Given the description of an element on the screen output the (x, y) to click on. 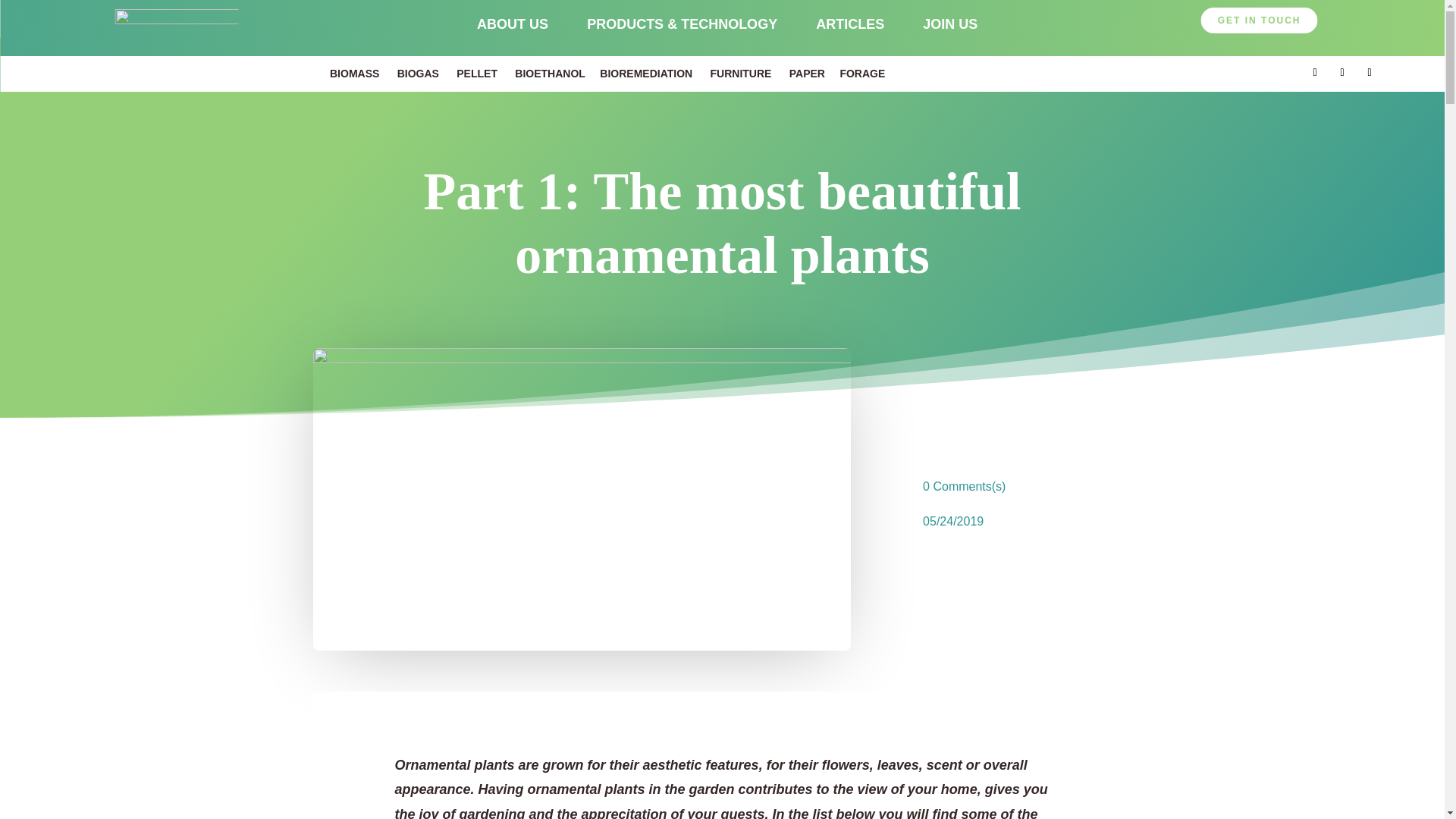
BIOMASS (354, 73)
ABE Logo Webicon (176, 28)
BIOREMEDIATION (646, 73)
FURNITURE (740, 73)
ARTICLES (849, 23)
GET IN TOUCH (1259, 20)
Follow on LinkedIn (1314, 72)
FORAGE (862, 73)
Follow on Facebook (1342, 72)
JOIN US (949, 23)
